Given the description of an element on the screen output the (x, y) to click on. 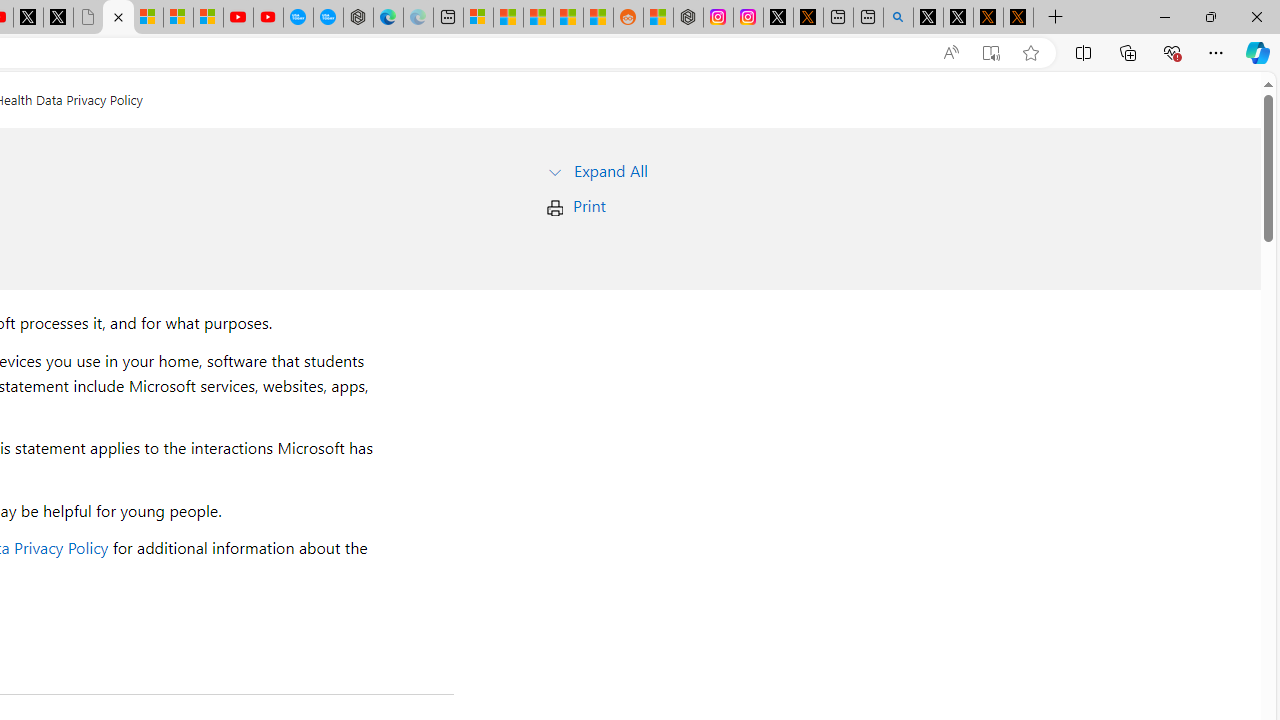
X Privacy Policy (1017, 17)
Enter Immersive Reader (F9) (991, 53)
